Given the description of an element on the screen output the (x, y) to click on. 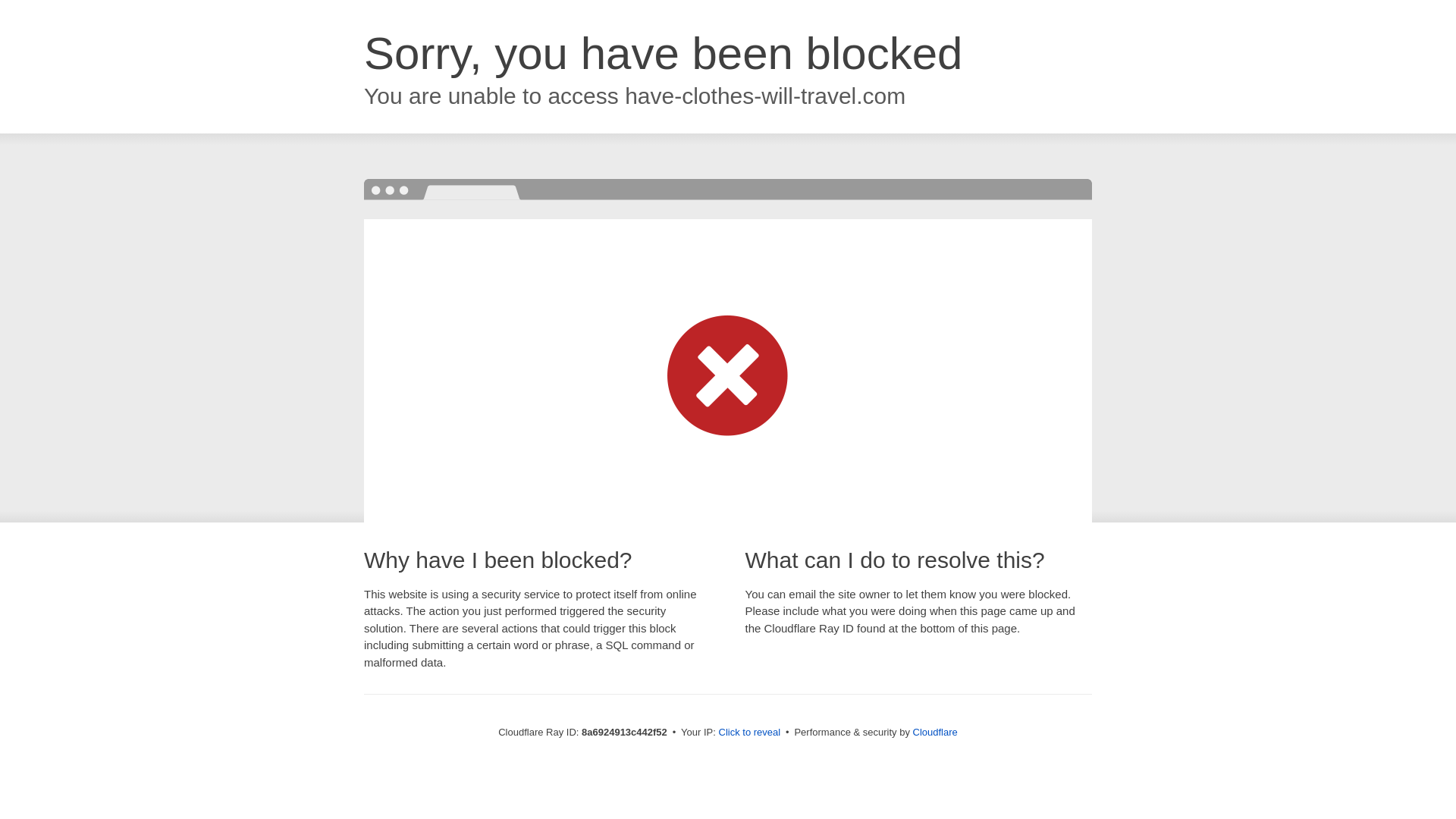
Cloudflare (935, 731)
Click to reveal (749, 732)
